Given the description of an element on the screen output the (x, y) to click on. 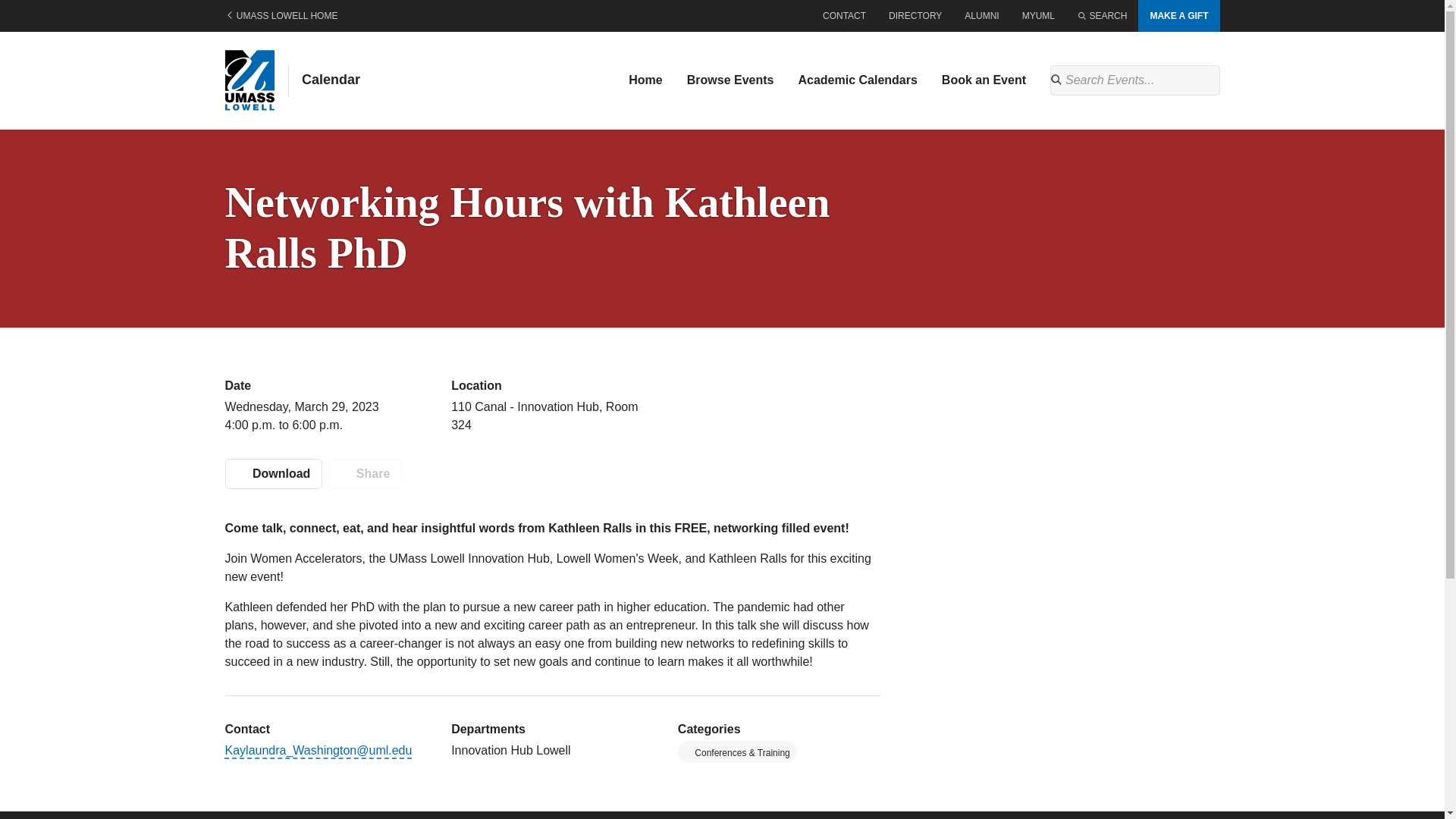
MyUML (1037, 15)
MAKE A GIFT (1179, 15)
Search (1101, 15)
Browse Events (729, 80)
Download Event (272, 473)
Directory (915, 15)
MYUML (1037, 15)
DIRECTORY (915, 15)
Contact (843, 15)
Book an Event (982, 80)
